Given the description of an element on the screen output the (x, y) to click on. 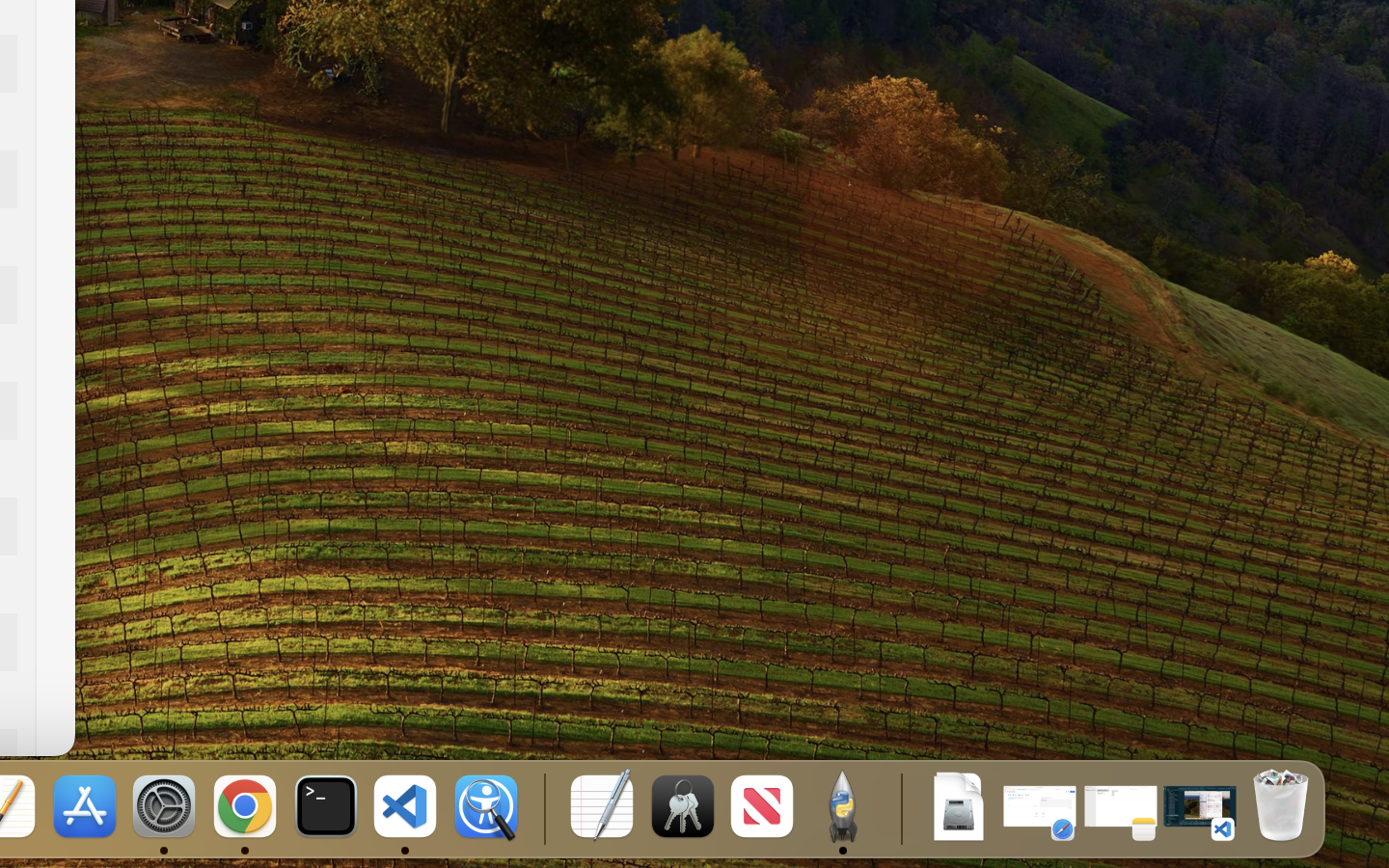
0.4285714328289032 Element type: AXDockItem (541, 807)
